Given the description of an element on the screen output the (x, y) to click on. 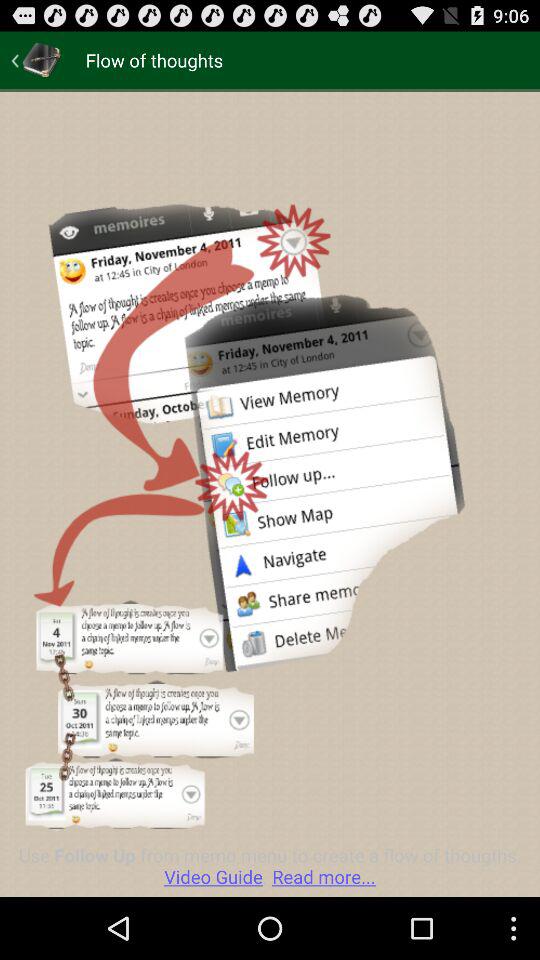
turn off icon above the use follow up (36, 60)
